Given the description of an element on the screen output the (x, y) to click on. 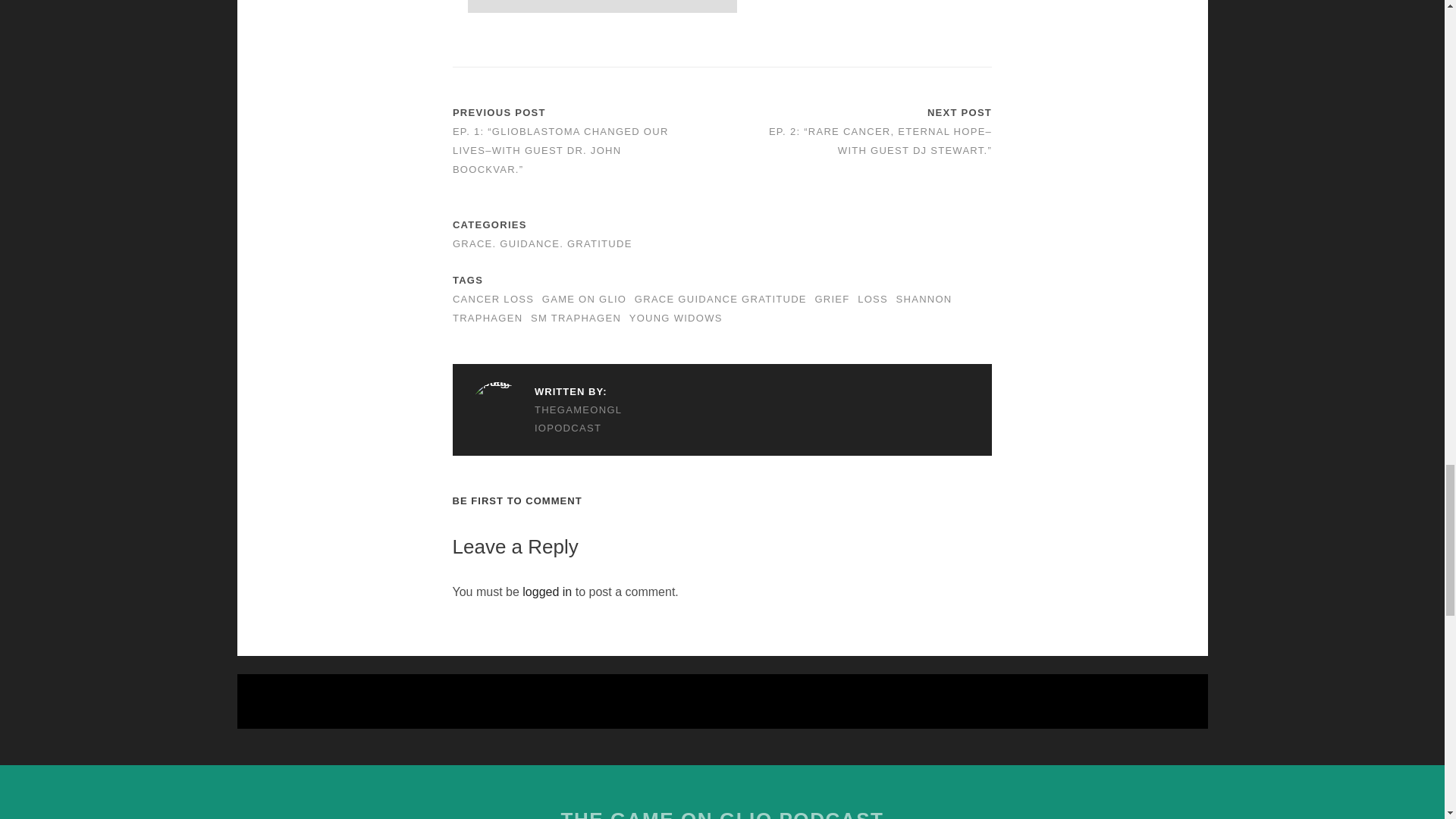
GRIEF (830, 298)
Subscribe (601, 6)
GRACE. GUIDANCE. GRATITUDE (541, 243)
LOSS (872, 298)
GAME ON GLIO (583, 298)
GRACE GUIDANCE GRATITUDE (720, 298)
Subscribe (601, 6)
CANCER LOSS (493, 298)
